Given the description of an element on the screen output the (x, y) to click on. 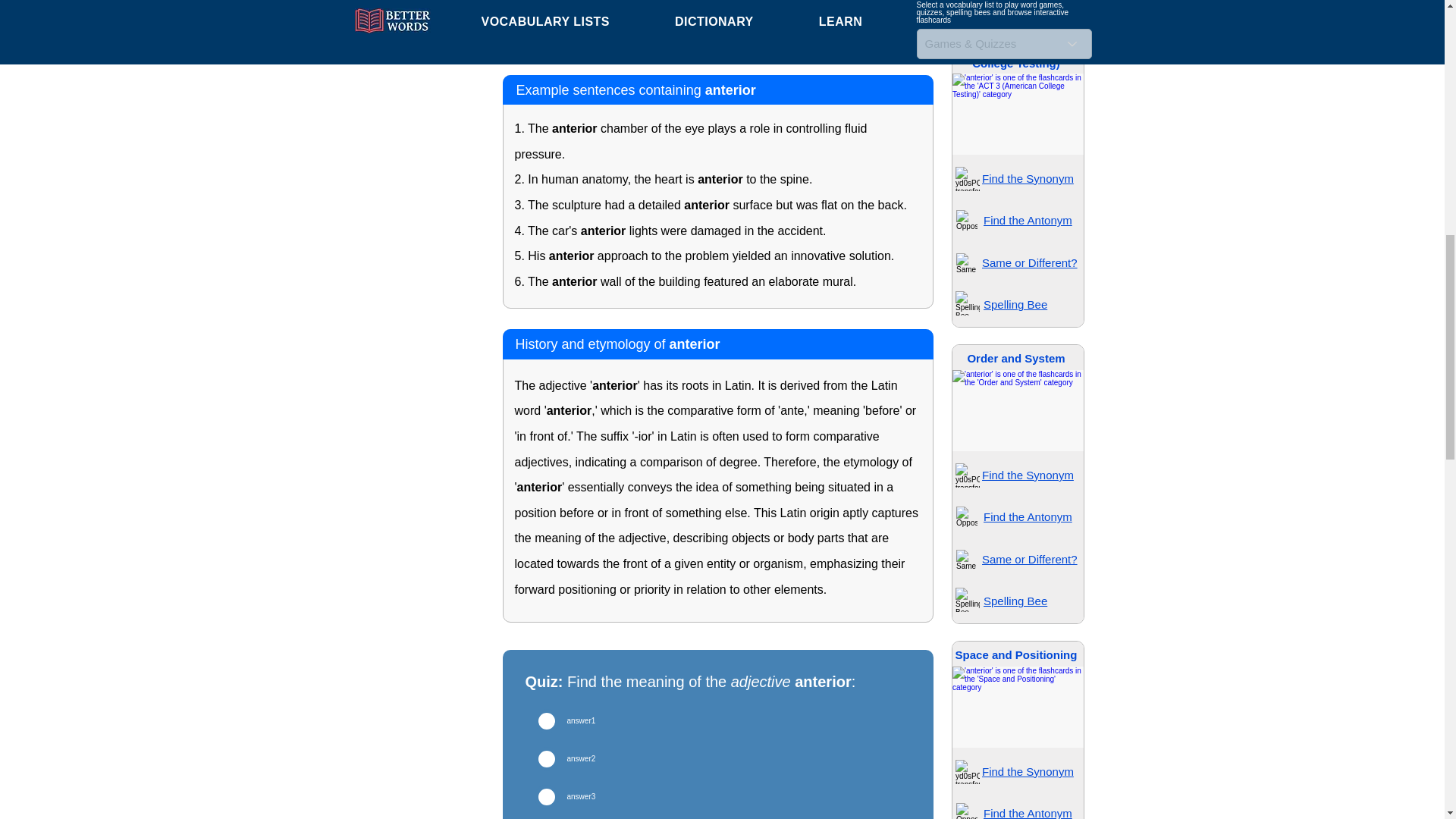
Find the Antonym (1027, 219)
Order and System (1015, 358)
Same or Different? (1029, 262)
Spelling Bee (1015, 304)
Spelling Bee (1015, 1)
Find the Synonym (1027, 178)
